Given the description of an element on the screen output the (x, y) to click on. 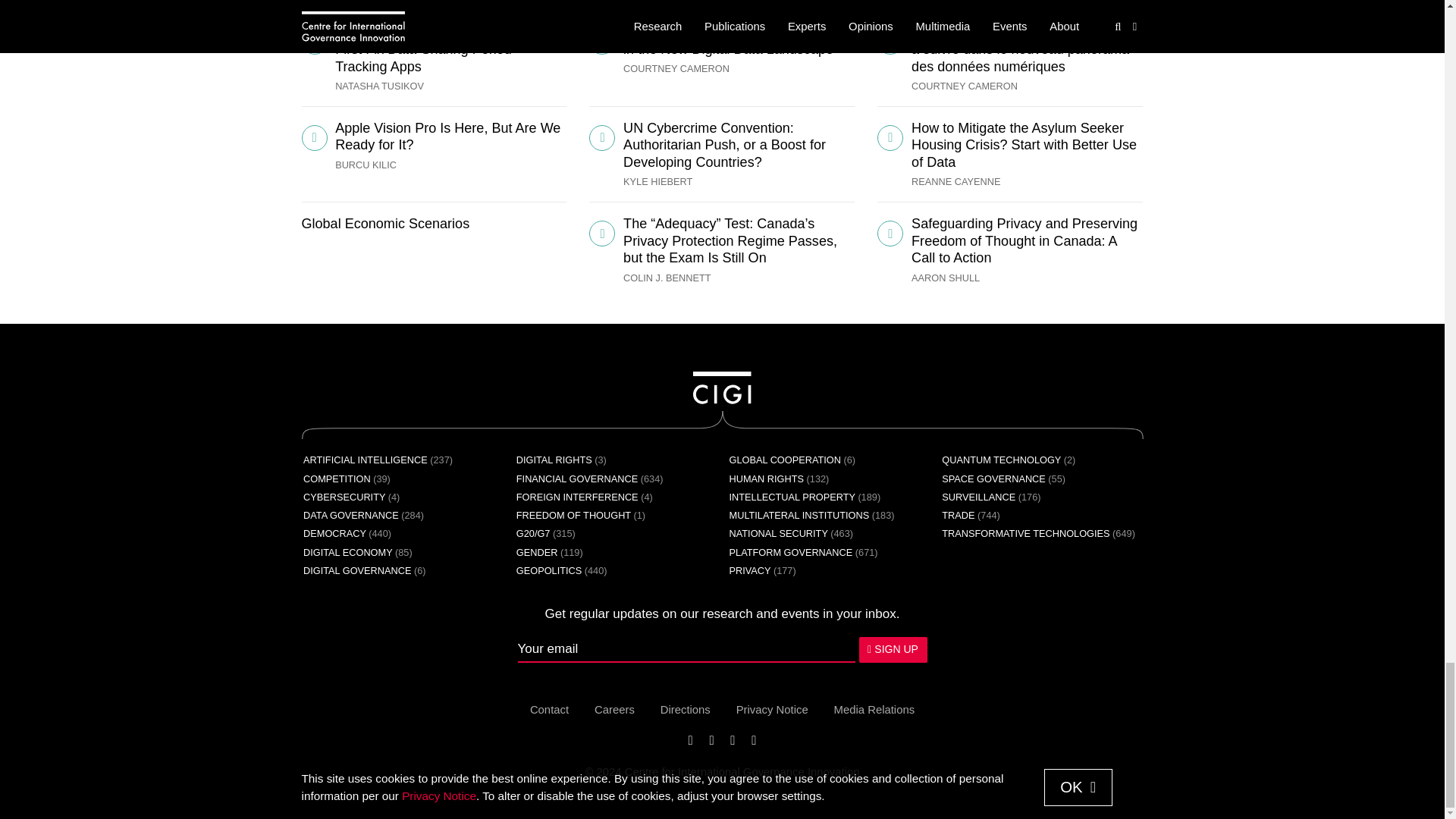
Newsletter Sign Up (721, 649)
